Given the description of an element on the screen output the (x, y) to click on. 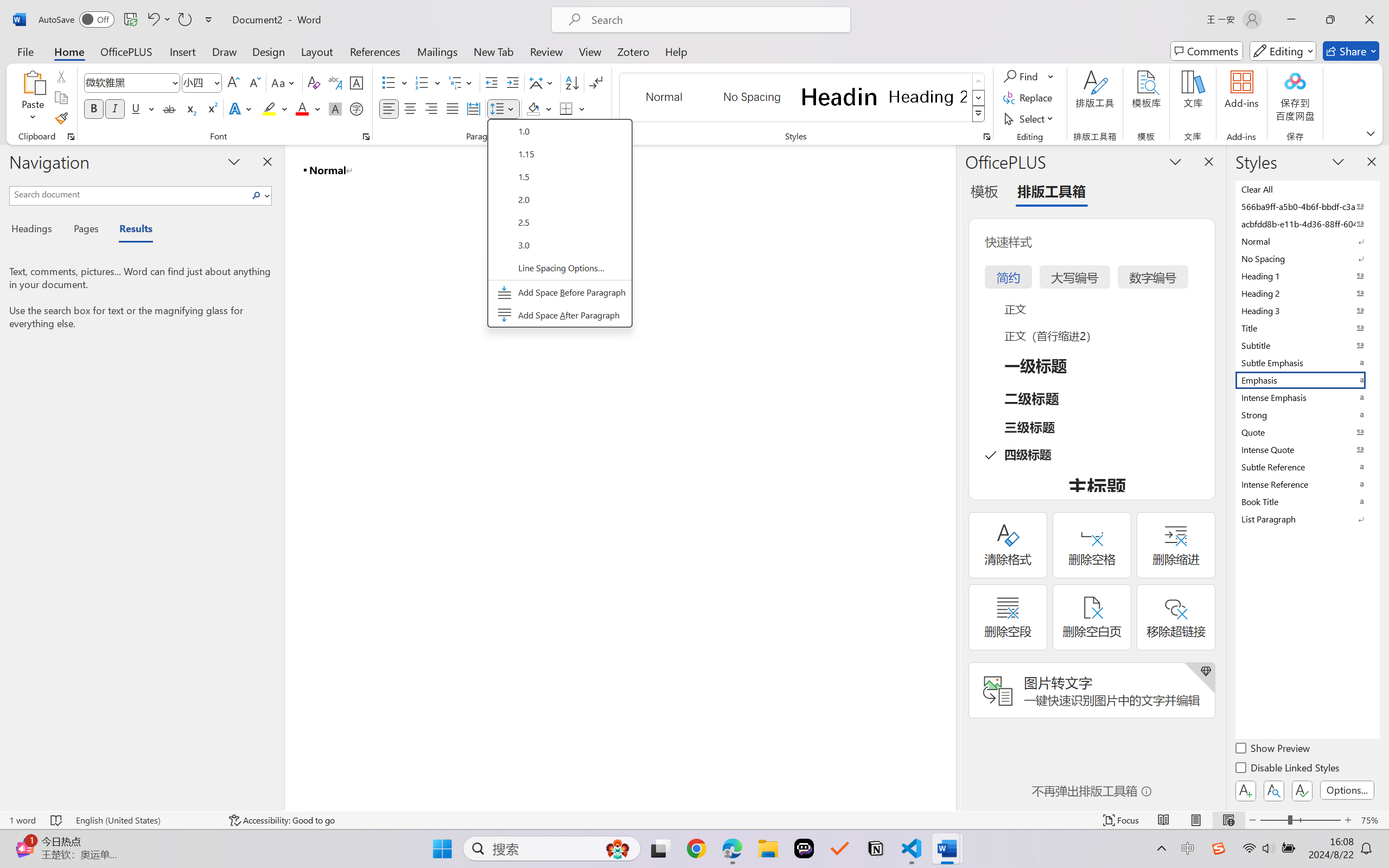
Google Chrome (696, 848)
AutomationID: DynamicSearchBoxGleamImage (617, 848)
Title (1306, 327)
Subtitle (1306, 345)
Microsoft search (715, 19)
Font (132, 82)
Numbering (421, 82)
Notion (875, 848)
Text Highlight Color Yellow (269, 108)
Italic (115, 108)
Align Right (431, 108)
